Given the description of an element on the screen output the (x, y) to click on. 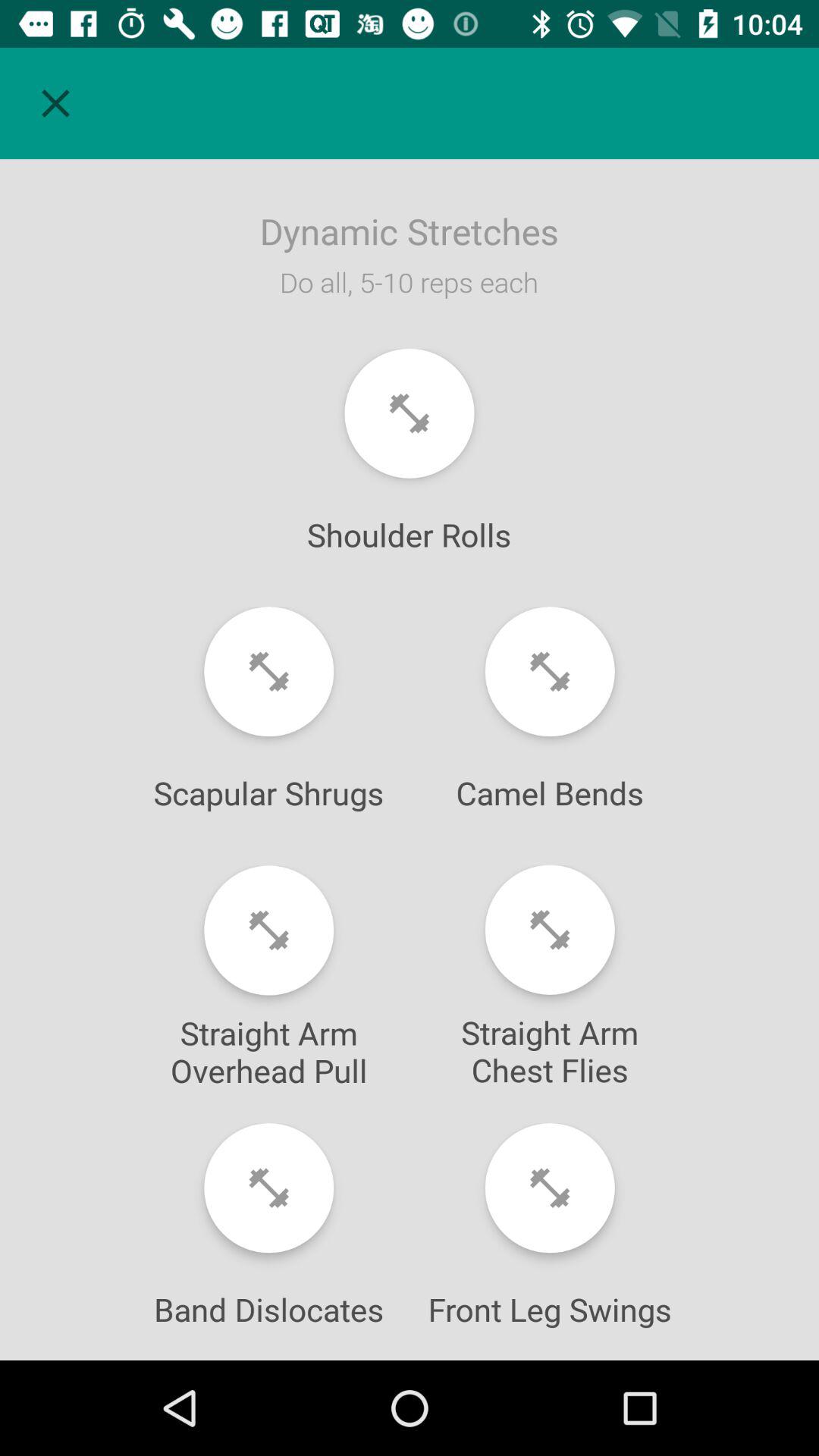
front leg swings (549, 1187)
